Given the description of an element on the screen output the (x, y) to click on. 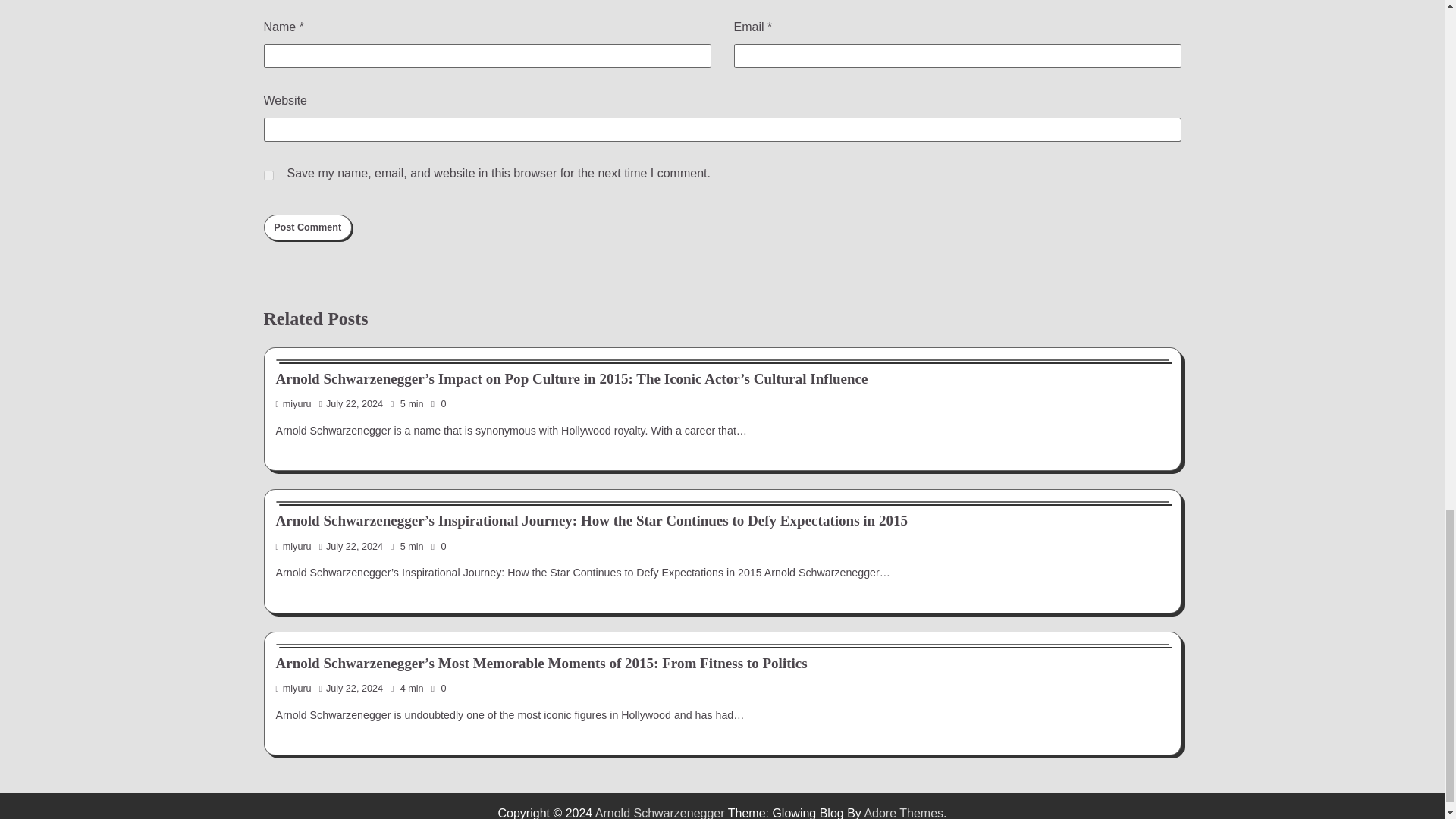
miyuru (293, 546)
miyuru (293, 688)
yes (268, 175)
miyuru (293, 403)
Post Comment (307, 227)
Post Comment (307, 227)
